Given the description of an element on the screen output the (x, y) to click on. 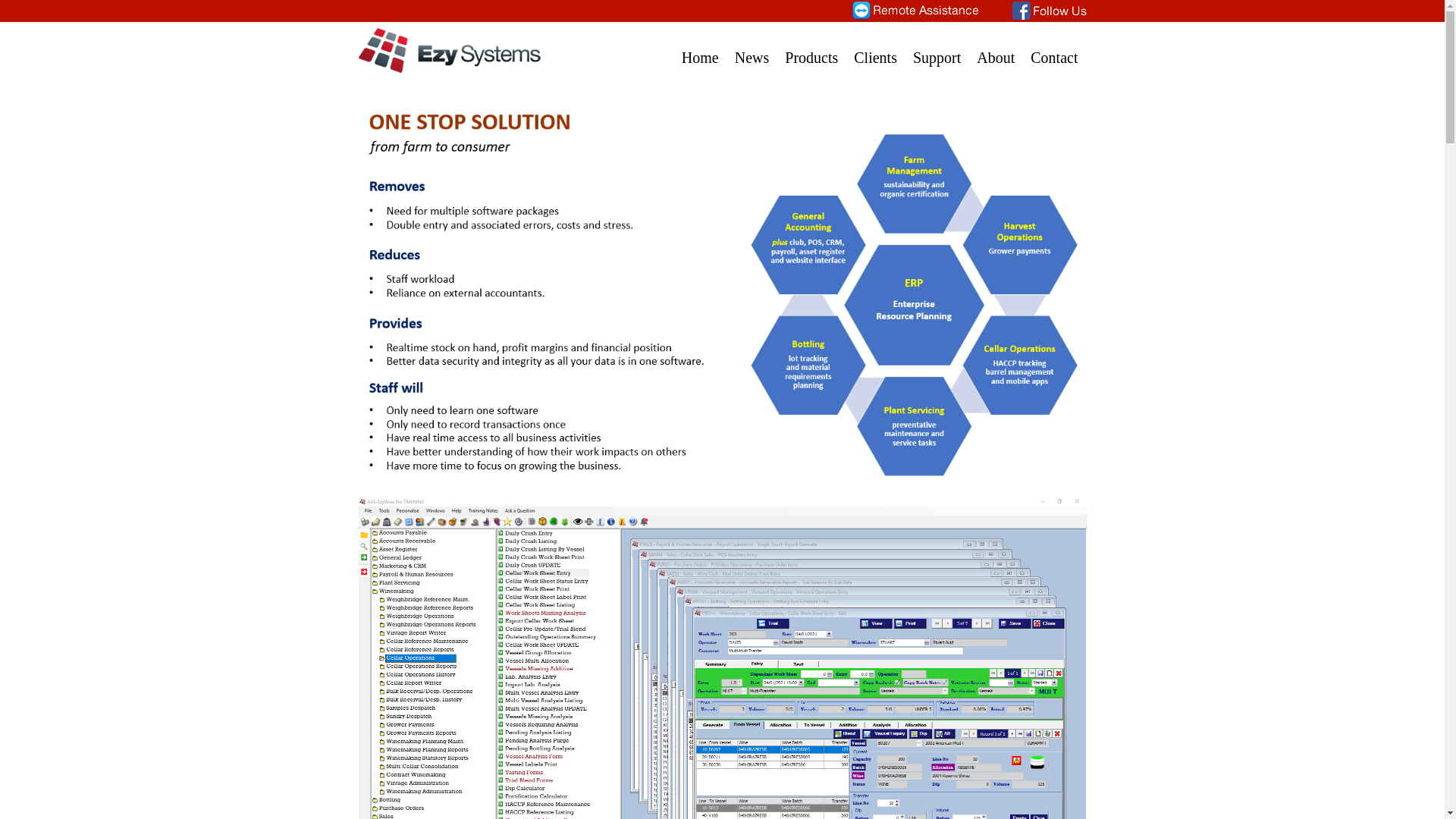
Support Element type: text (936, 48)
Home Element type: text (700, 48)
About Element type: text (995, 48)
Contact Element type: text (1053, 48)
Products Element type: text (811, 48)
News Element type: text (752, 48)
Clients Element type: text (875, 48)
